Given the description of an element on the screen output the (x, y) to click on. 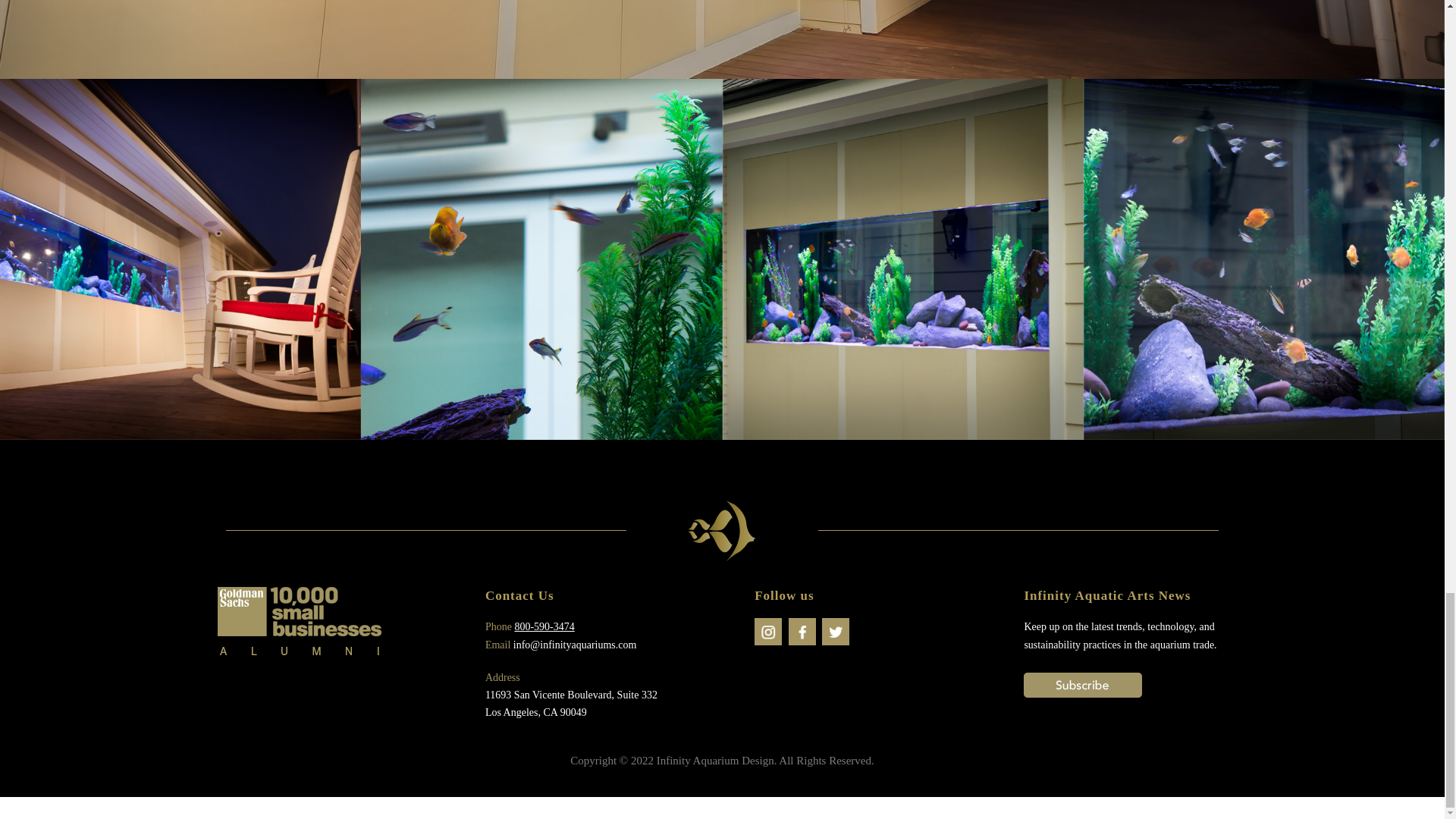
800-590-3474 (543, 626)
